Given the description of an element on the screen output the (x, y) to click on. 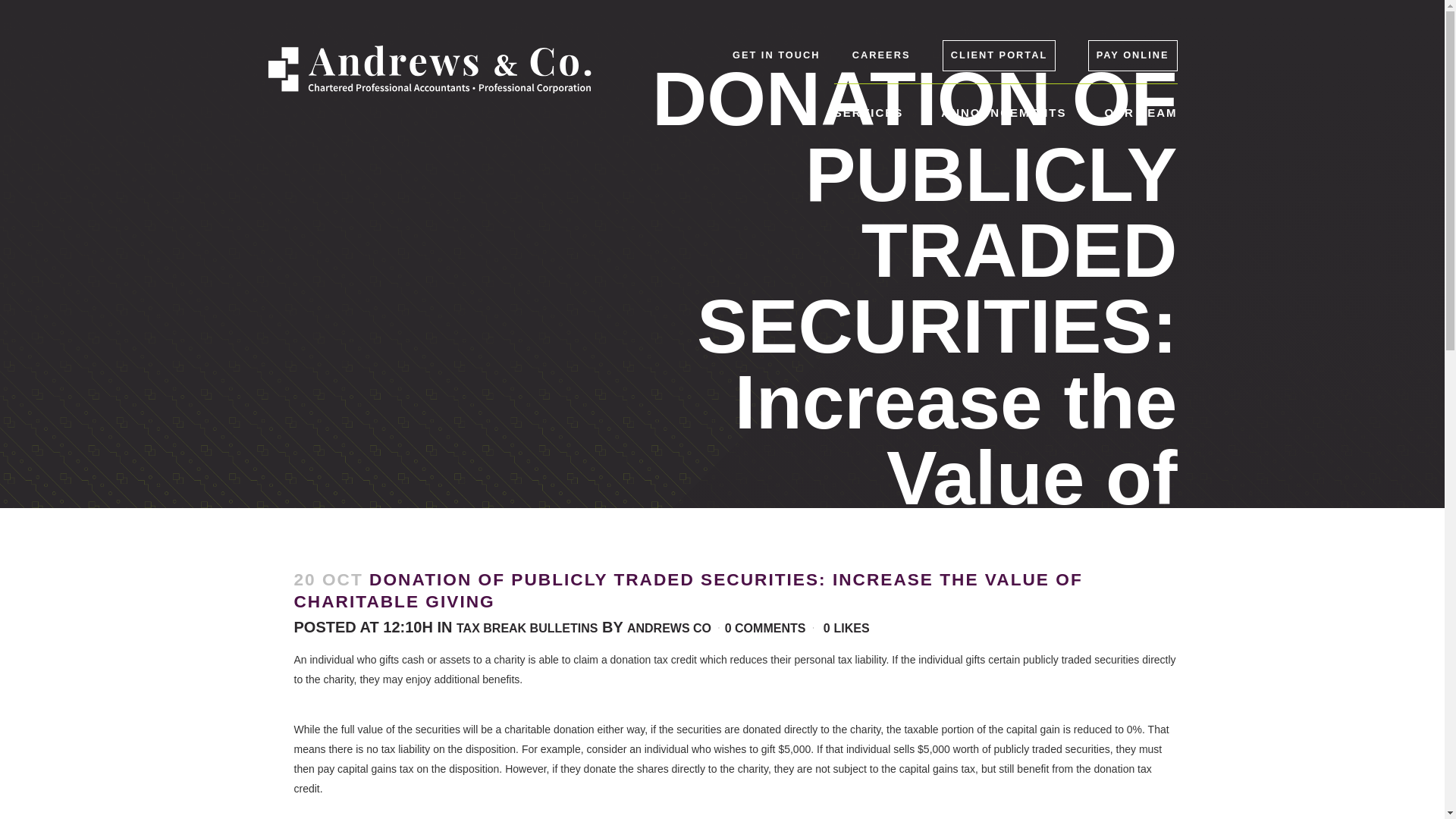
CAREERS (881, 55)
Like this (846, 628)
ANDREWS CO (669, 627)
GET IN TOUCH (775, 55)
OUR TEAM (1139, 112)
CLIENT PORTAL (998, 55)
0 COMMENTS (765, 627)
0 LIKES (846, 628)
PAY ONLINE (1132, 55)
TAX BREAK BULLETINS (526, 627)
ANNOUNCEMENTS (1002, 112)
SERVICES (869, 112)
